Given the description of an element on the screen output the (x, y) to click on. 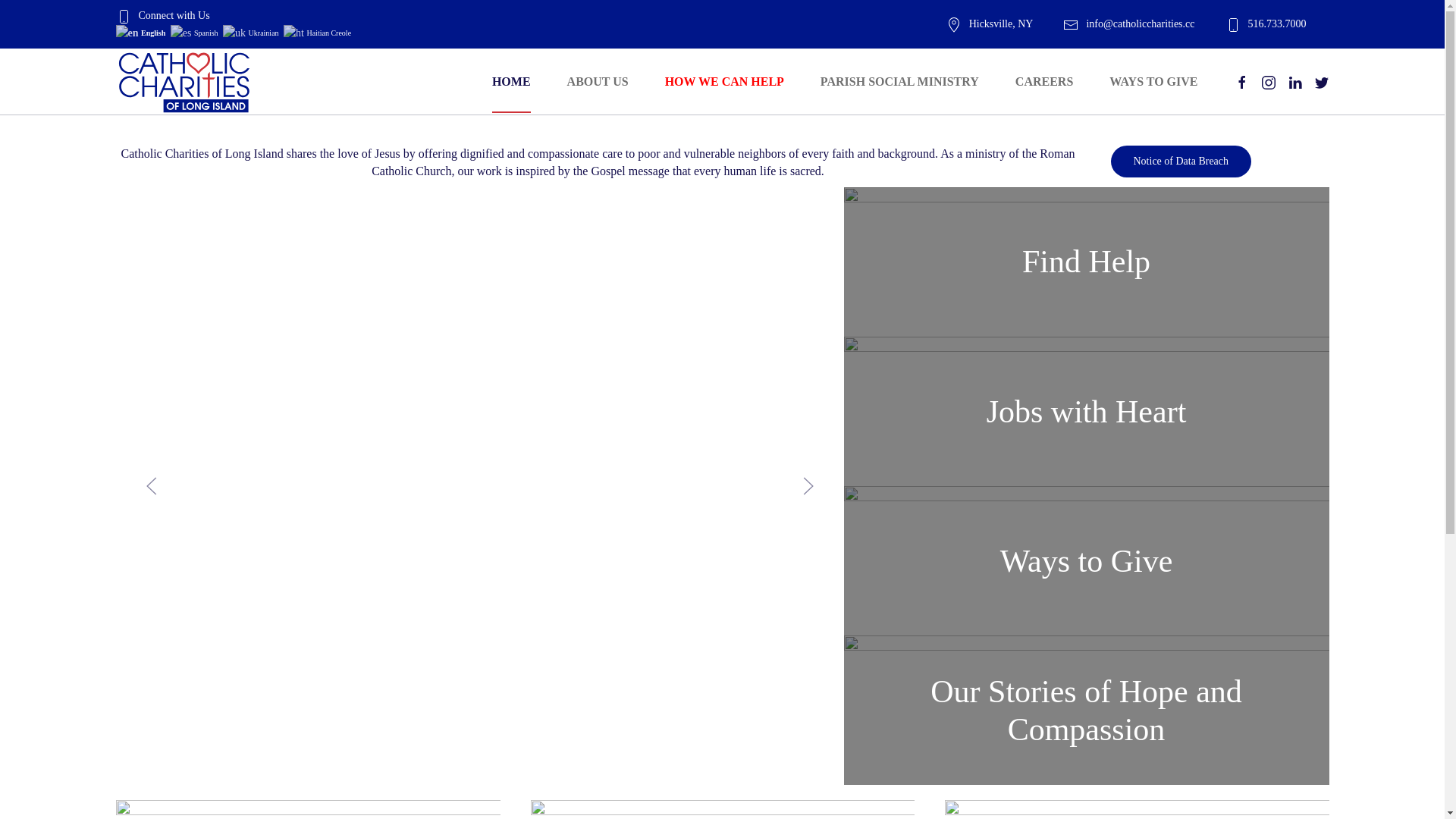
Our Stories of Hope and Compassion Element type: text (1085, 709)
Connect with Us Element type: text (162, 15)
Find Help Element type: text (1085, 261)
English Element type: text (141, 31)
PARISH SOCIAL MINISTRY Element type: text (899, 81)
516.733.7000 Element type: text (1265, 23)
HOME Element type: text (511, 81)
Haitian Creole Element type: text (318, 31)
Notice of Data Breach Element type: text (1180, 161)
Hicksville, NY Element type: text (989, 23)
HOW WE CAN HELP Element type: text (724, 81)
Jobs with Heart Element type: text (1085, 411)
CAREERS Element type: text (1044, 81)
Ukrainian Element type: text (251, 31)
info@catholiccharities.cc Element type: text (1128, 23)
Spanish Element type: text (195, 31)
ABOUT US Element type: text (597, 81)
WAYS TO GIVE Element type: text (1153, 81)
Ways to Give Element type: text (1085, 560)
